Given the description of an element on the screen output the (x, y) to click on. 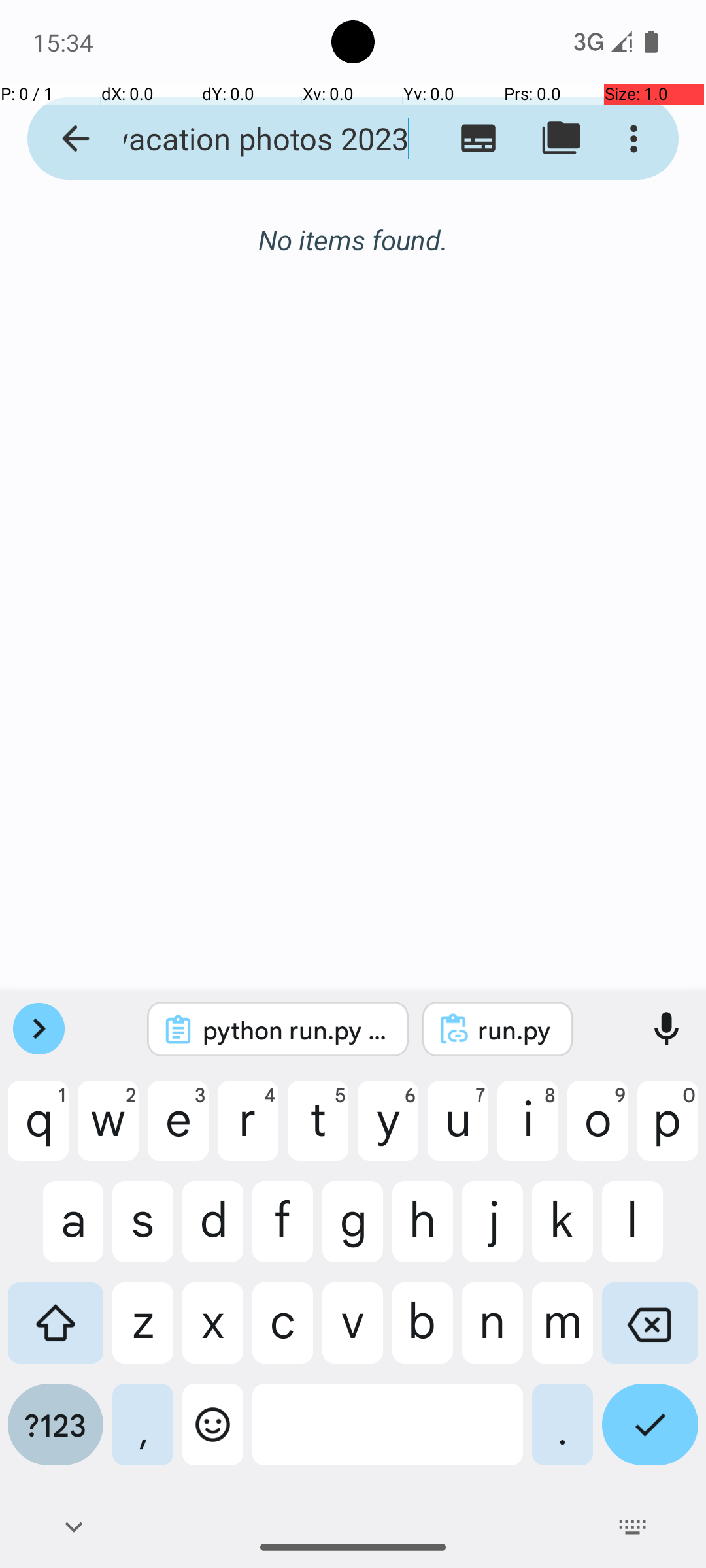
vacation photos 2023 Element type: android.widget.EditText (252, 138)
Switch to folder view Element type: android.widget.Button (560, 138)
python run.py \   --suite_family=android_world \   --agent_name=t3a_gpt4 \   --perform_emulator_setup \   --tasks=ContactsAddContact,ClockStopWatchRunning \  # Optional: Just run on a subset. Element type: android.widget.TextView (294, 1029)
run.py Element type: android.widget.TextView (514, 1029)
